Given the description of an element on the screen output the (x, y) to click on. 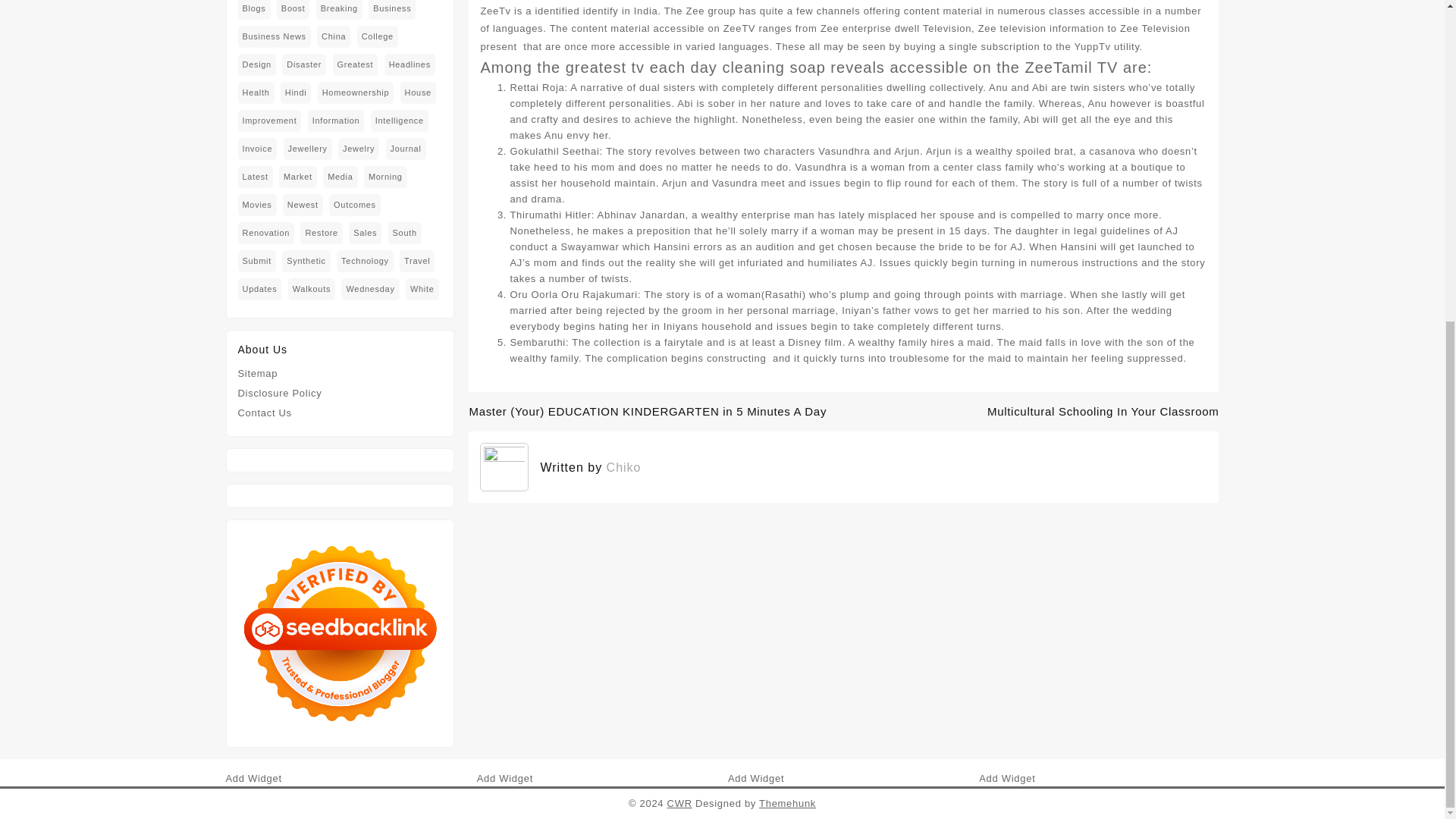
College (376, 36)
Headlines (409, 65)
Design (257, 65)
Breaking (338, 9)
Blogs (254, 9)
Business (391, 9)
China (333, 36)
Disaster (304, 65)
Hindi (296, 92)
Seedbacklink (340, 633)
Boost (293, 9)
Homeownership (355, 92)
House (417, 92)
Greatest (355, 65)
Health (256, 92)
